Given the description of an element on the screen output the (x, y) to click on. 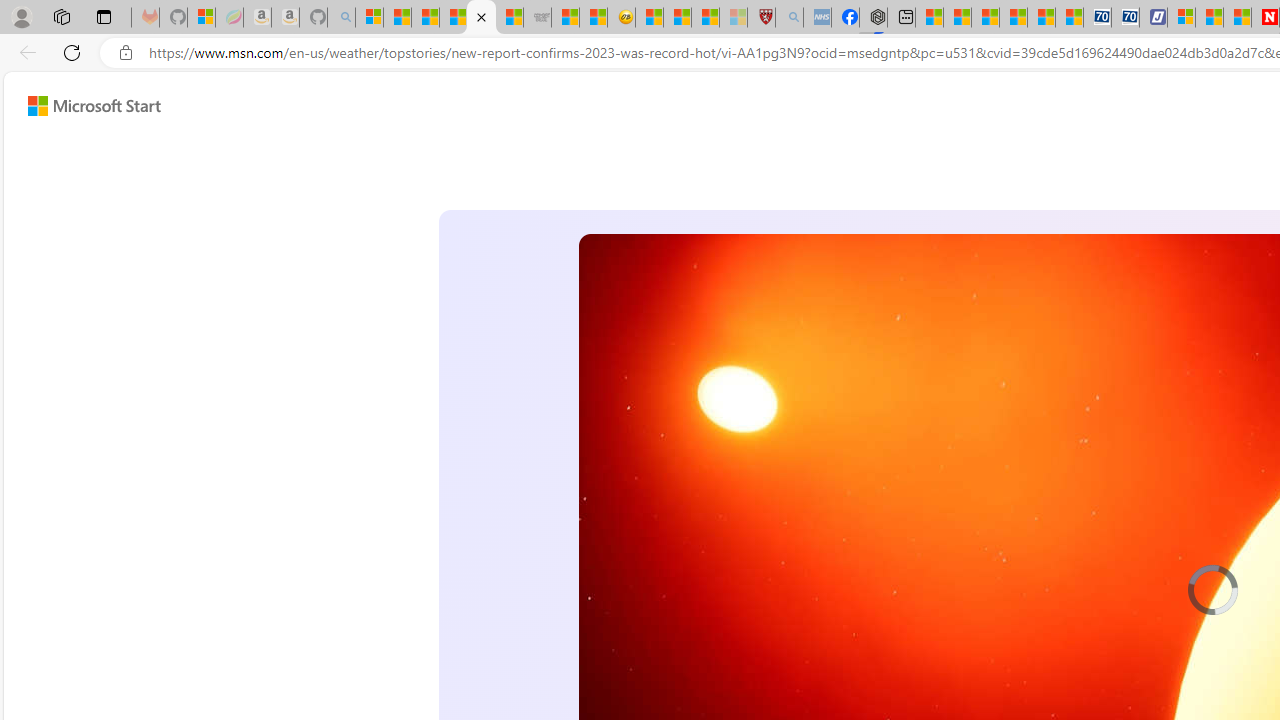
12 Popular Science Lies that Must be Corrected - Sleeping (733, 17)
Cheap Hotels - Save70.com (1125, 17)
Robert H. Shmerling, MD - Harvard Health (760, 17)
